Given the description of an element on the screen output the (x, y) to click on. 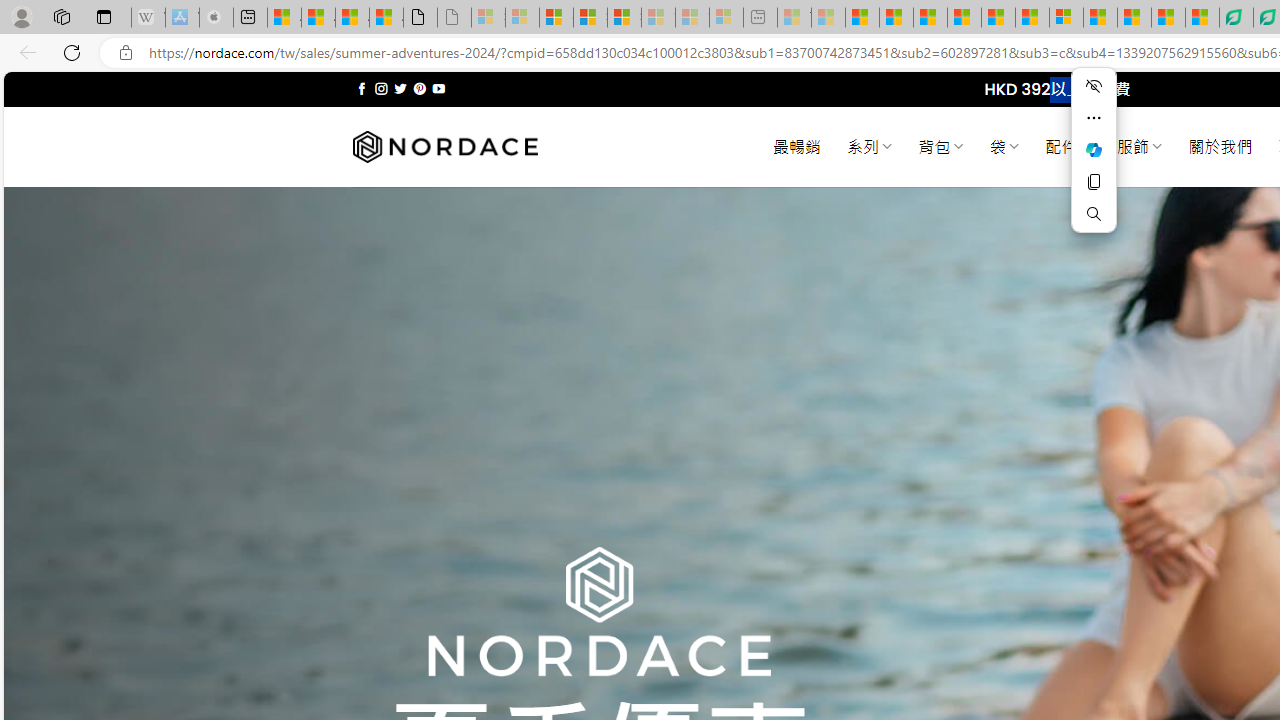
Microsoft account | Account Checkup - Sleeping (726, 17)
